Given the description of an element on the screen output the (x, y) to click on. 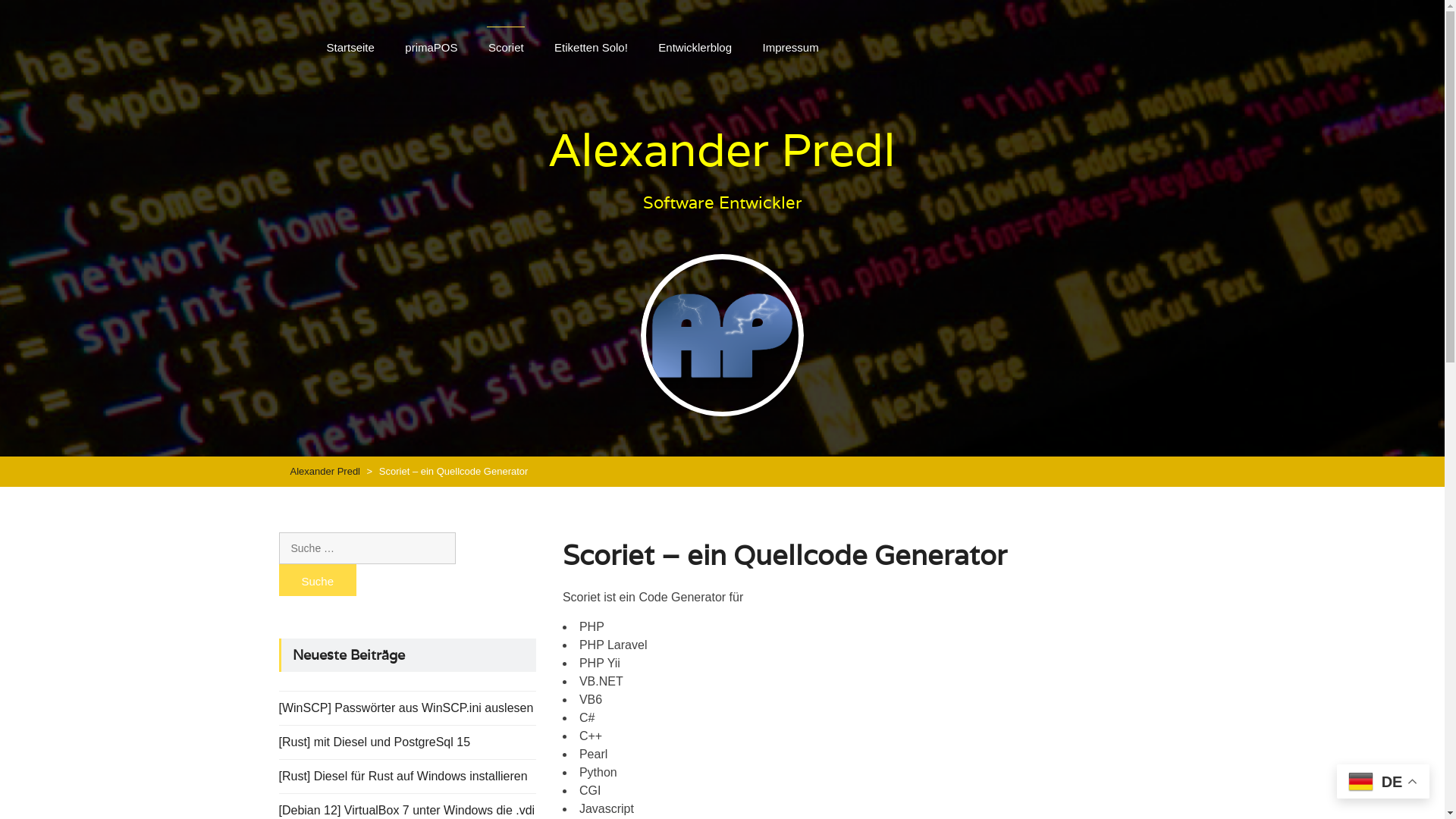
Entwicklerblog Element type: text (694, 47)
Startseite Element type: text (349, 47)
Impressum Element type: text (789, 47)
primaPOS Element type: text (430, 47)
Scoriet Element type: text (505, 47)
[Rust] mit Diesel und PostgreSql 15 Element type: text (374, 741)
Etiketten Solo! Element type: text (590, 47)
Alexander Predl Element type: text (722, 148)
Alexander Predl Element type: text (324, 470)
Suche Element type: text (317, 580)
